Given the description of an element on the screen output the (x, y) to click on. 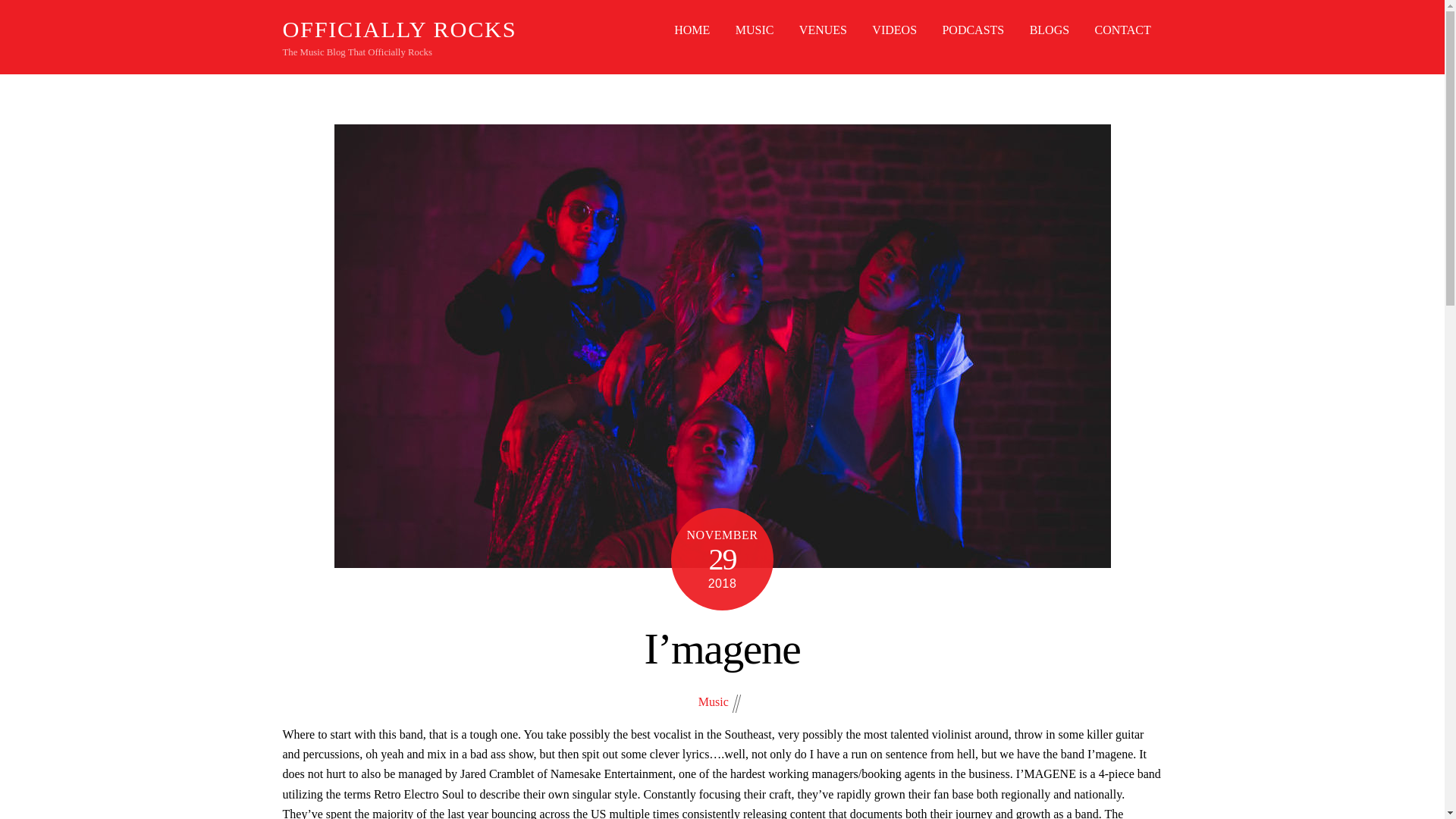
VENUES (822, 30)
BLOGS (1048, 30)
CONTACT (1123, 30)
Music (713, 701)
PODCASTS (973, 30)
Officially Rocks (399, 29)
OFFICIALLY ROCKS (399, 29)
HOME (691, 30)
MUSIC (754, 30)
VIDEOS (893, 30)
